Given the description of an element on the screen output the (x, y) to click on. 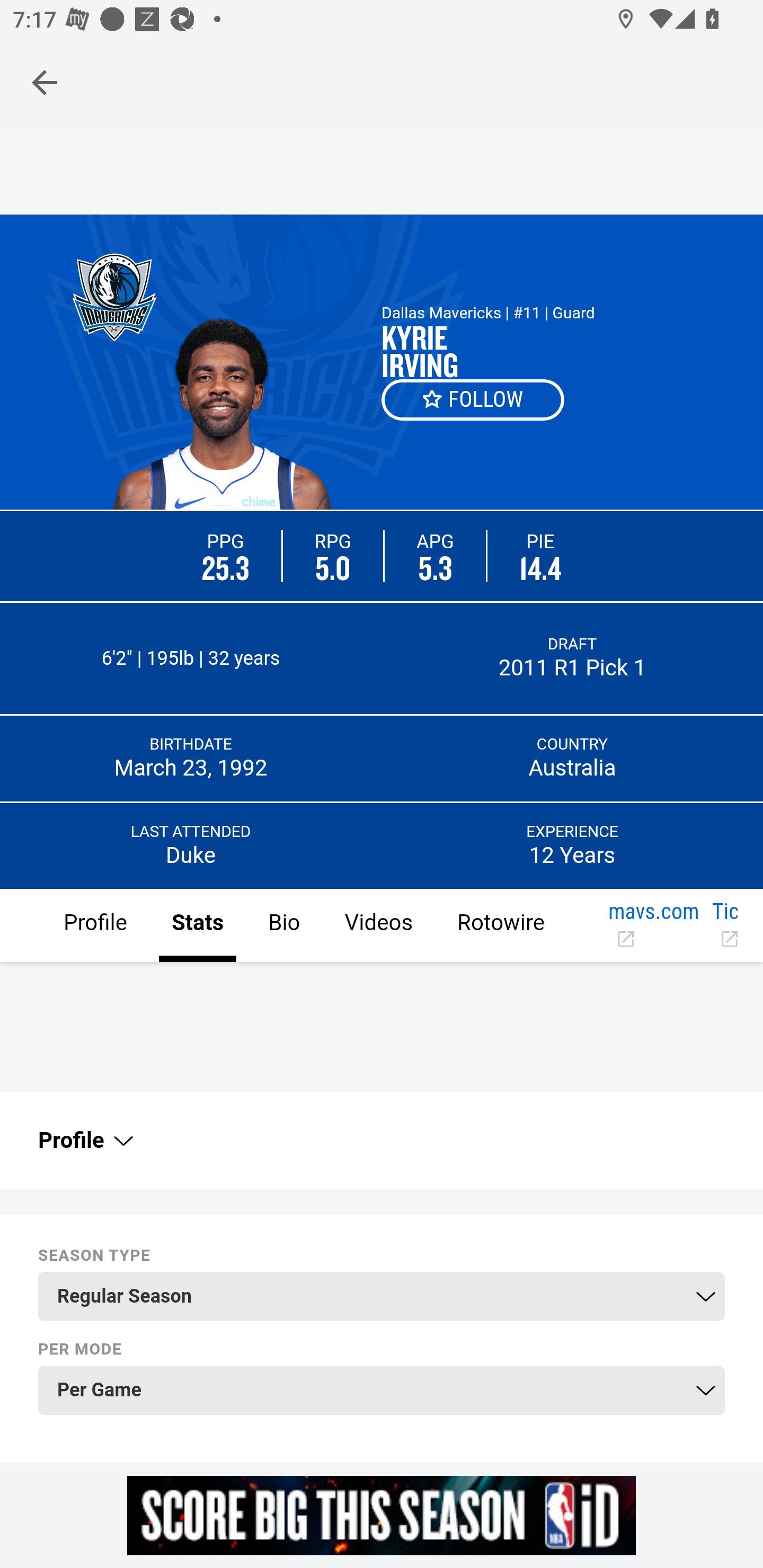
Navigate up (44, 82)
Dallas Mavericks Logo (114, 297)
FOLLOW (473, 399)
Profile (95, 926)
Stats (196, 926)
Bio (283, 926)
Videos (377, 926)
Rotowire (500, 926)
mavs.com (653, 926)
Profile (84, 1140)
Regular Season (381, 1296)
Per Game (381, 1390)
g5nqqygr7owph (381, 1515)
